Given the description of an element on the screen output the (x, y) to click on. 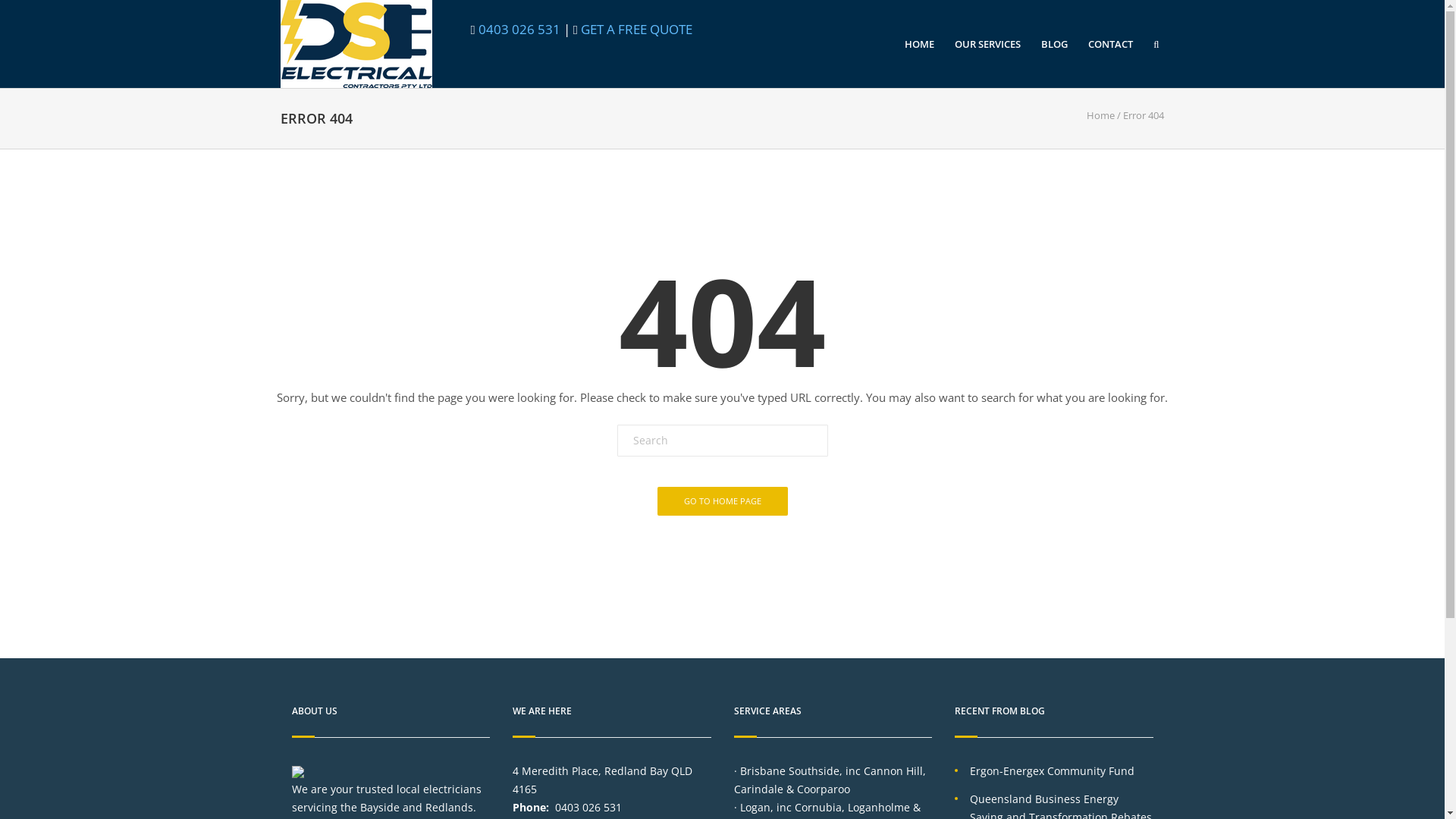
BLOG Element type: text (1054, 43)
Home Element type: text (1100, 115)
GO TO HOME PAGE Element type: text (721, 500)
Ergon-Energex Community Fund Element type: text (1051, 770)
CONTACT Element type: text (1110, 43)
OUR SERVICES Element type: text (987, 43)
HOME Element type: text (919, 43)
GET A FREE QUOTE Element type: text (634, 28)
0403 026 531 Element type: text (519, 28)
